Given the description of an element on the screen output the (x, y) to click on. 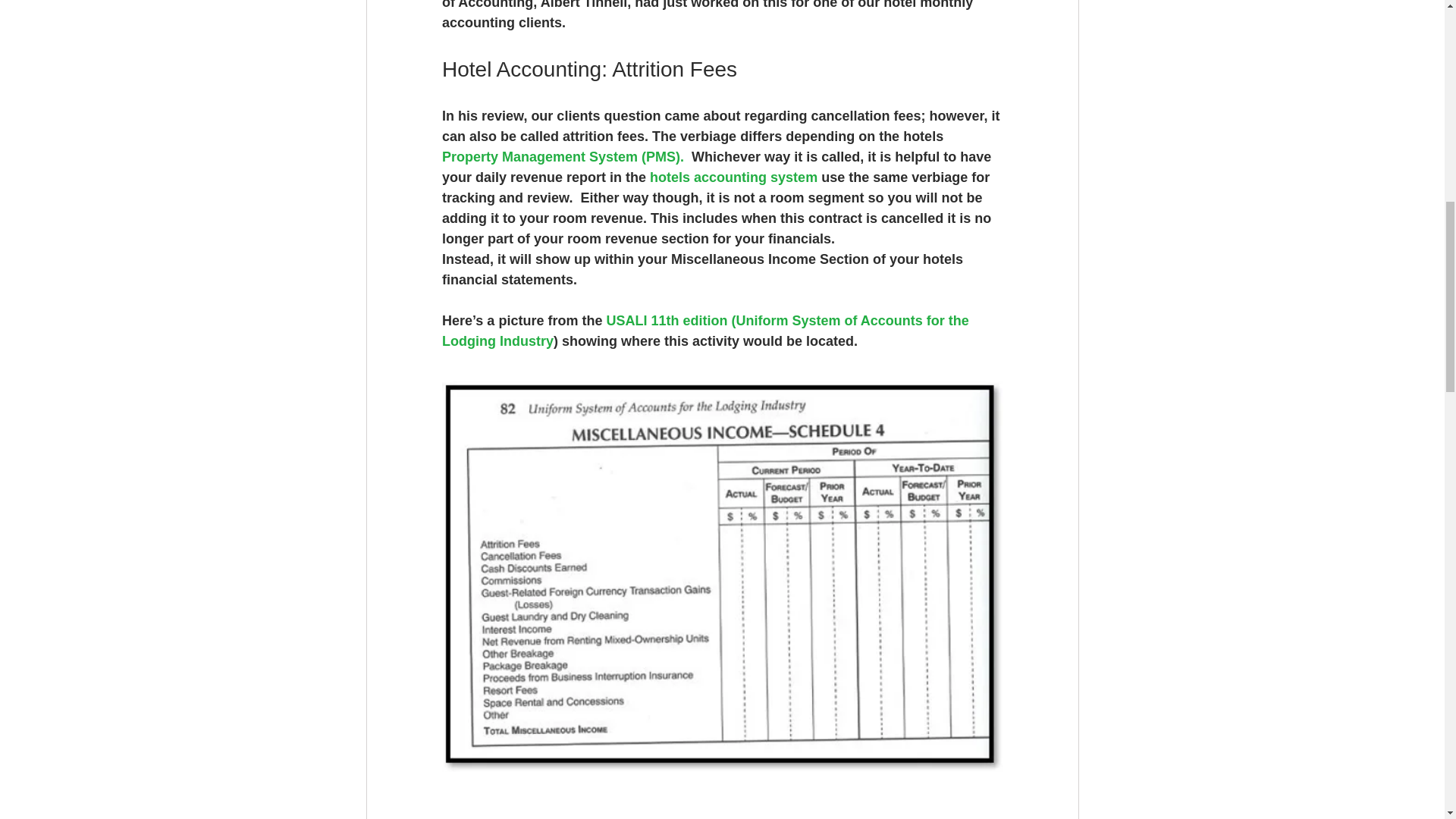
hotels accounting system (732, 177)
